Given the description of an element on the screen output the (x, y) to click on. 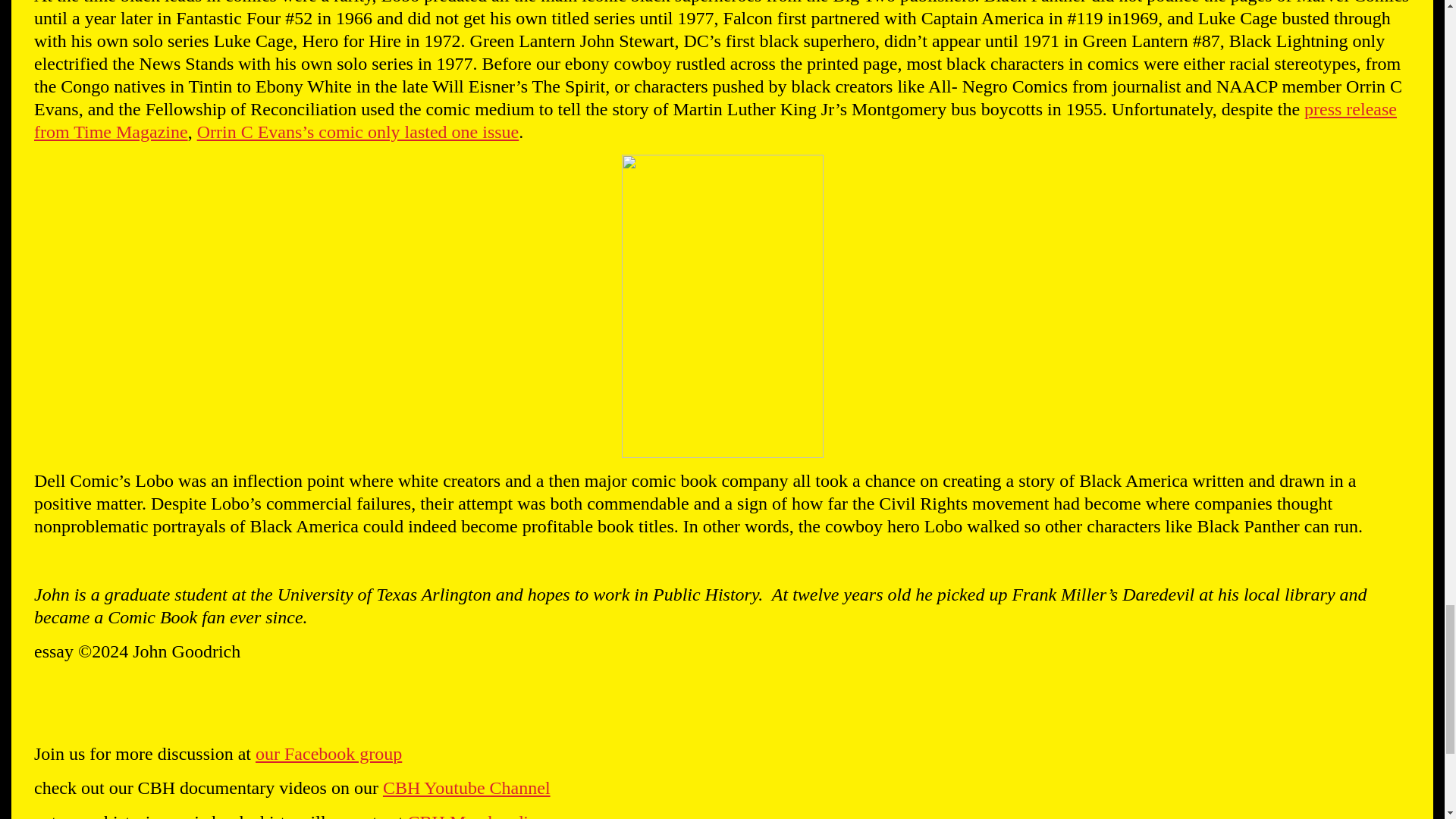
CBH Youtube Channel (466, 787)
our Facebook group (328, 753)
CBH Youtube Channel (466, 787)
our Facebook group (328, 753)
CBH Merchandise (475, 815)
CBH Merchandise (475, 815)
press release from Time Magazine (714, 120)
